Given the description of an element on the screen output the (x, y) to click on. 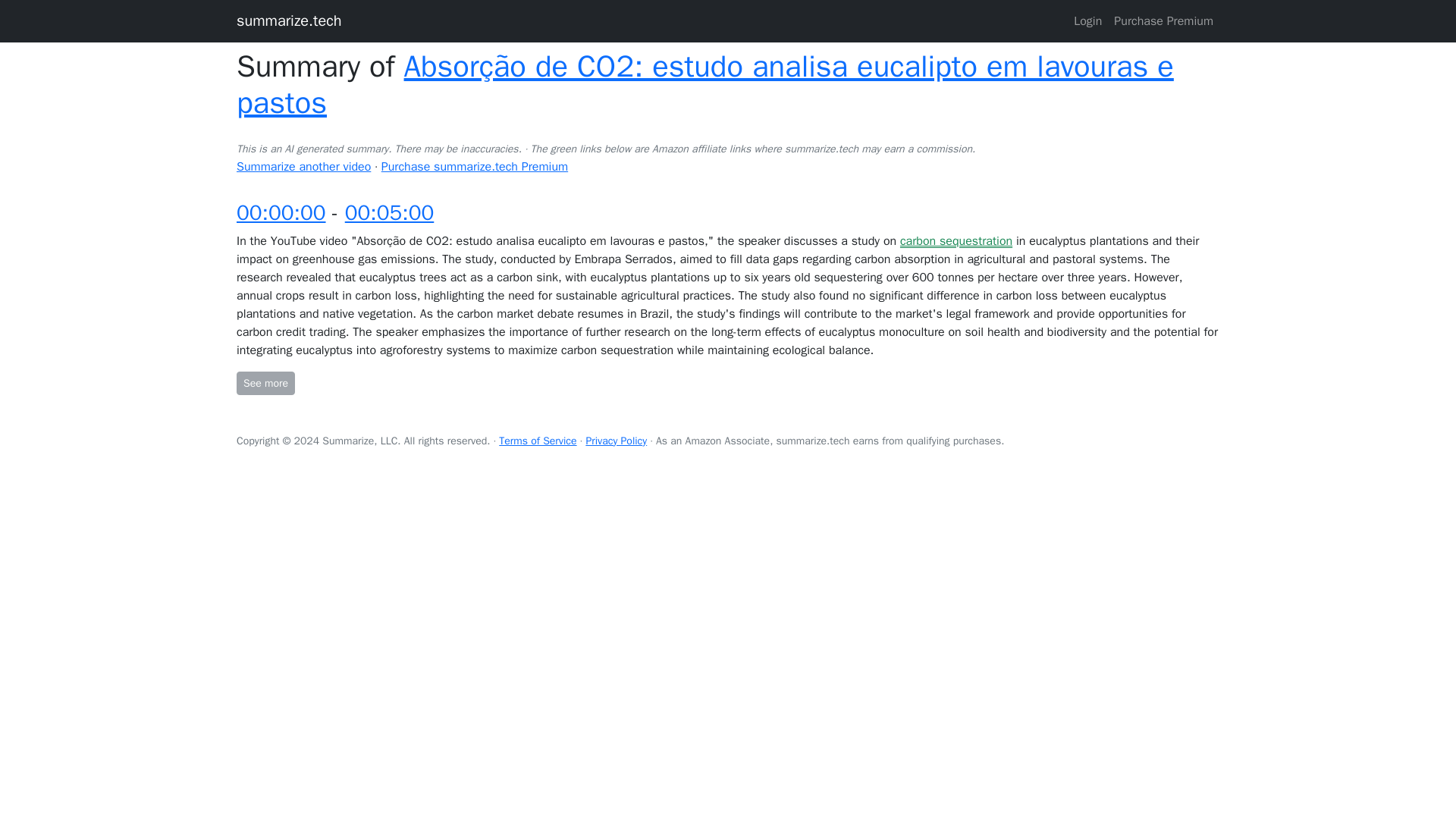
Privacy Policy (615, 440)
Login (1087, 20)
carbon sequestration (955, 240)
summarize.tech (288, 20)
See more (265, 382)
Terms of Service (537, 440)
00:05:00 (389, 212)
Purchase Premium (1164, 20)
Summarize another video (303, 166)
00:00:00 (280, 212)
Purchase summarize.tech Premium (474, 166)
